Given the description of an element on the screen output the (x, y) to click on. 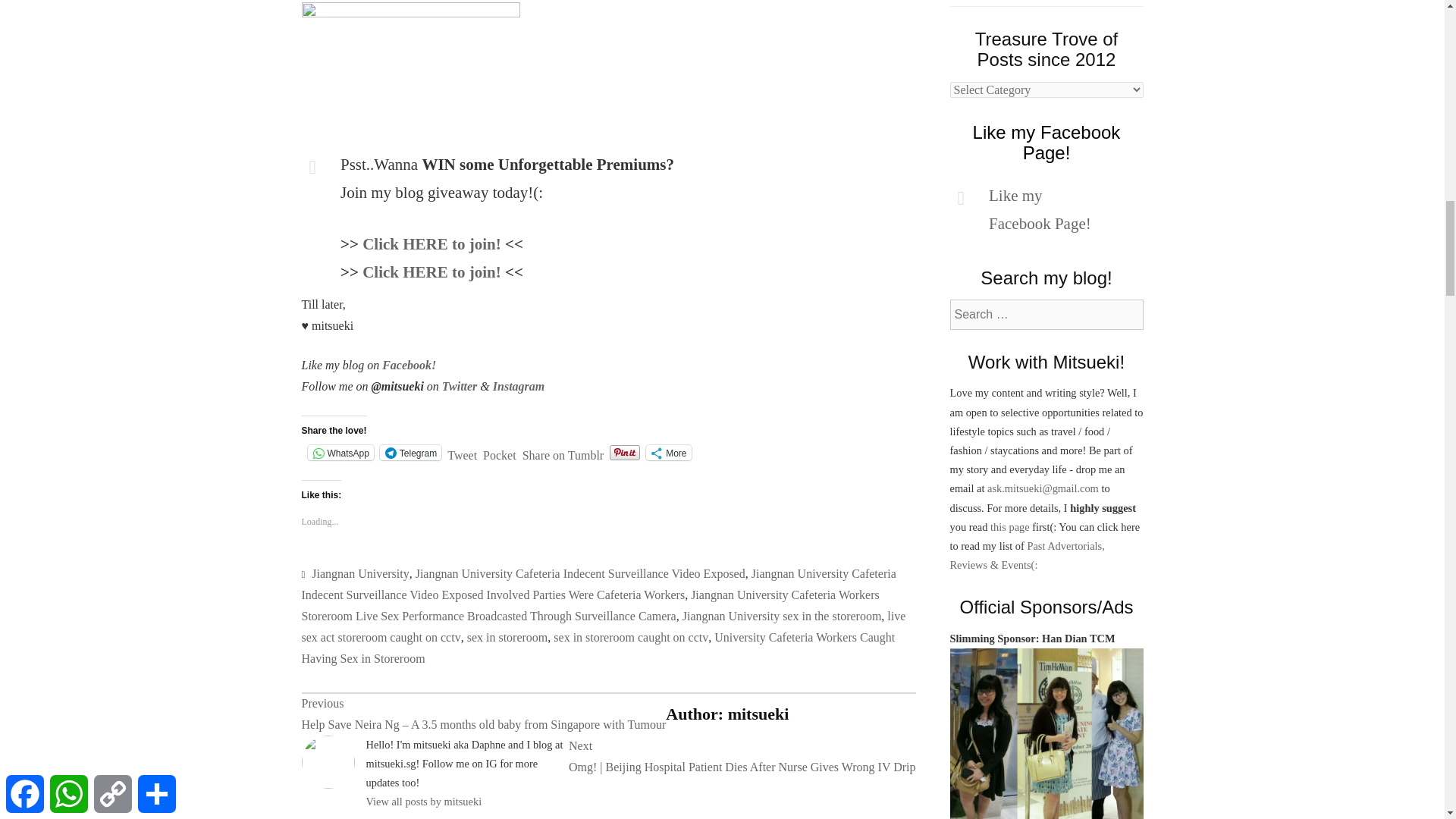
Instagram (518, 386)
Telegram (410, 452)
WhatsApp (340, 452)
Pocket (499, 454)
Share on Tumblr (563, 451)
Twitter (459, 386)
Click HERE to join! (431, 271)
Click HERE to join! (431, 244)
Facebook! (408, 364)
Tweet (461, 451)
